Given the description of an element on the screen output the (x, y) to click on. 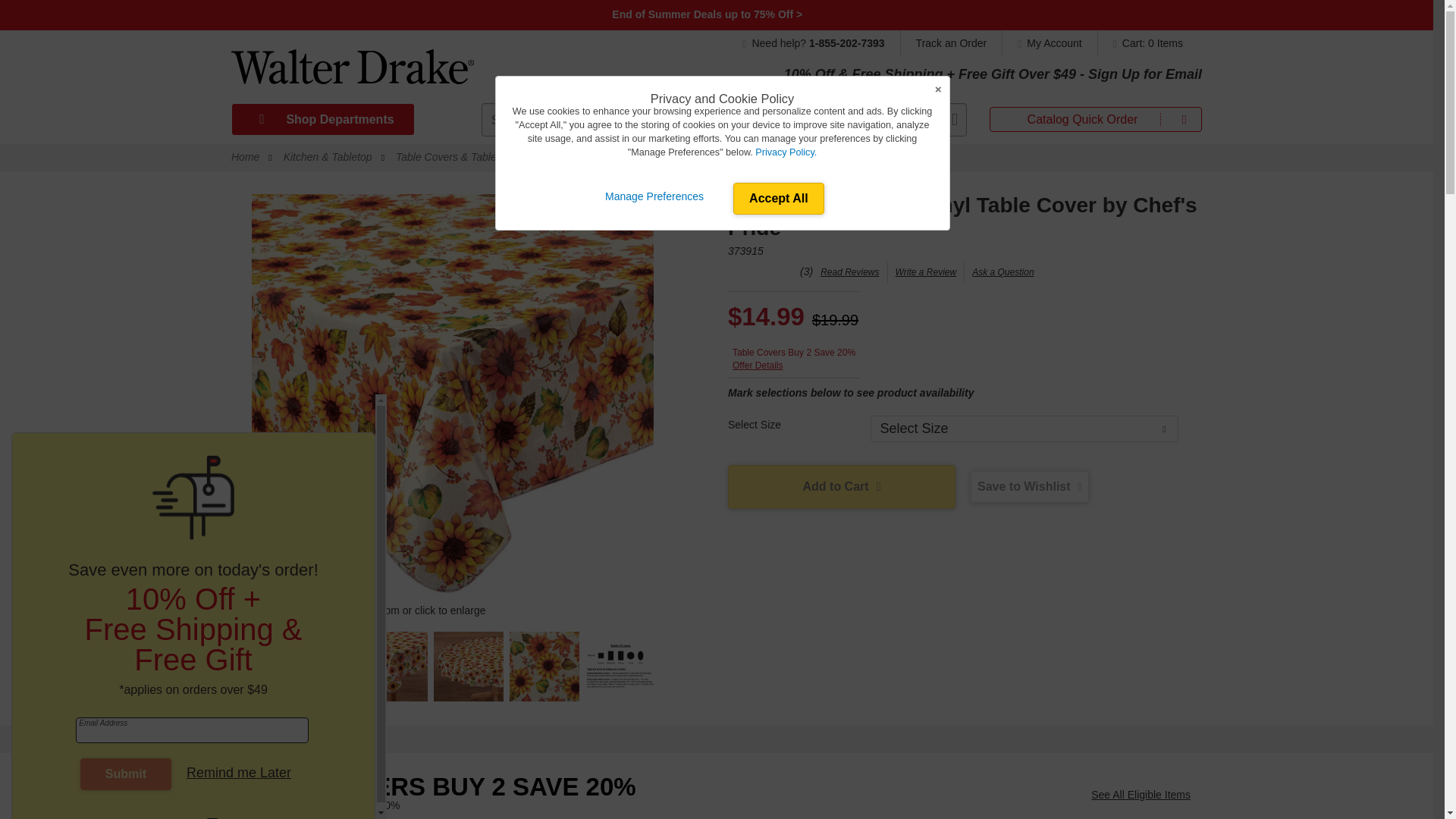
Homepage Link (351, 72)
Star Rating: 4.7 (762, 273)
Track an Order (952, 43)
Need help? 1-855-202-7393 (820, 43)
Review Count: 3 (805, 271)
Cart: 0 Items (1144, 43)
Shop Departments  (322, 119)
sale (707, 14)
My Account (1050, 43)
Recommendation Link (1140, 794)
